Given the description of an element on the screen output the (x, y) to click on. 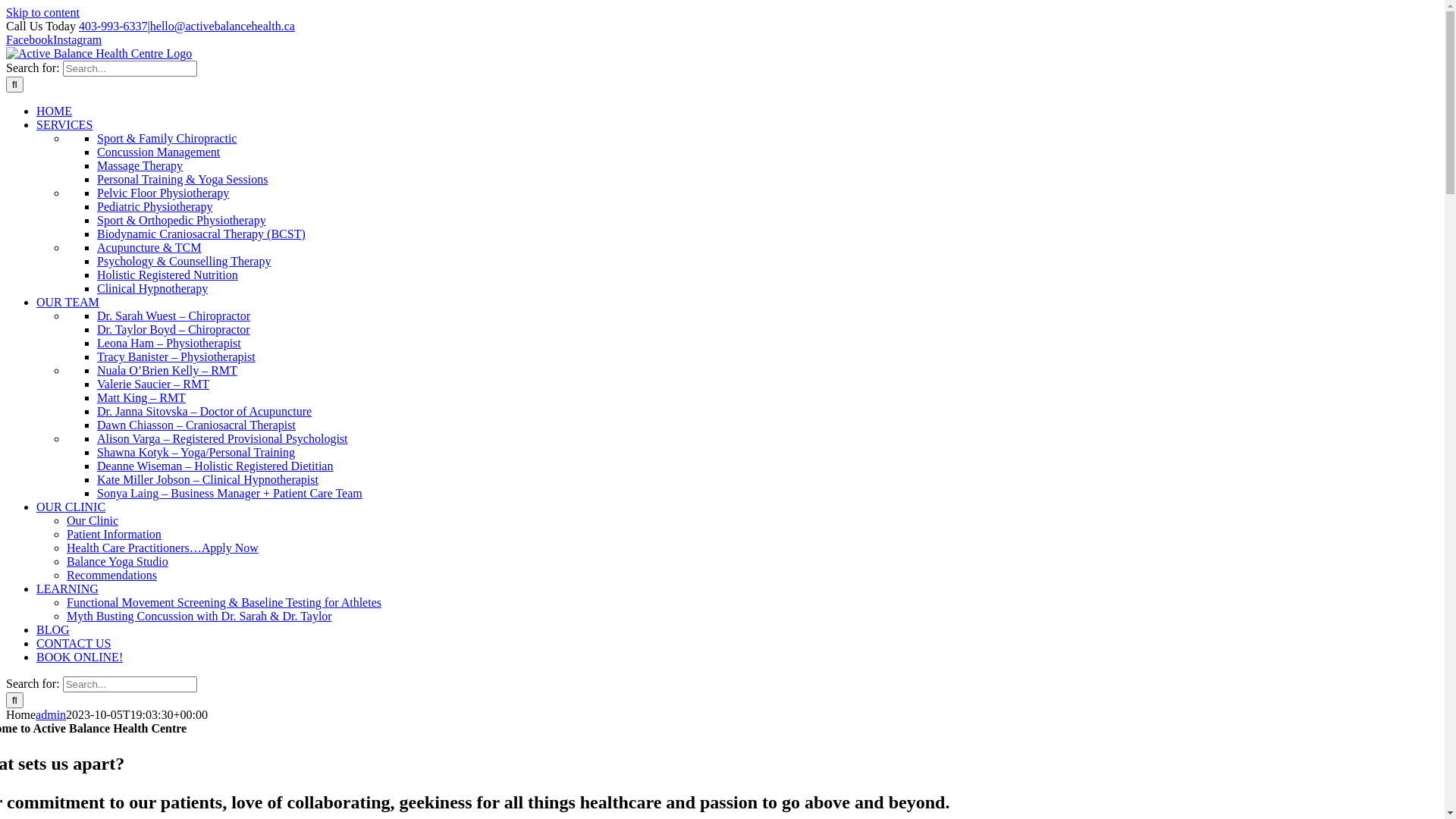
Recommendations Element type: text (111, 574)
Biodynamic Craniosacral Therapy (BCST) Element type: text (201, 233)
Clinical Hypnotherapy Element type: text (152, 288)
OUR TEAM Element type: text (67, 301)
BOOK ONLINE! Element type: text (79, 656)
Balance Yoga Studio Element type: text (117, 561)
Psychology & Counselling Therapy Element type: text (183, 260)
Pediatric Physiotherapy Element type: text (154, 206)
BLOG Element type: text (52, 629)
LEARNING Element type: text (67, 588)
SERVICES Element type: text (64, 124)
Instagram Element type: text (77, 39)
hello@activebalancehealth.ca Element type: text (222, 25)
Skip to content Element type: text (42, 12)
Holistic Registered Nutrition Element type: text (167, 274)
403-993-6337 Element type: text (112, 25)
Massage Therapy Element type: text (139, 165)
Sport & Family Chiropractic Element type: text (166, 137)
Pelvic Floor Physiotherapy Element type: text (163, 192)
CONTACT US Element type: text (73, 643)
Sport & Orthopedic Physiotherapy Element type: text (181, 219)
admin Element type: text (50, 714)
Acupuncture & TCM Element type: text (148, 247)
Patient Information Element type: text (113, 533)
HOME Element type: text (54, 110)
Myth Busting Concussion with Dr. Sarah & Dr. Taylor Element type: text (199, 615)
OUR CLINIC Element type: text (70, 506)
Our Clinic Element type: text (92, 520)
Facebook Element type: text (29, 39)
Concussion Management Element type: text (158, 151)
Personal Training & Yoga Sessions Element type: text (182, 178)
